Given the description of an element on the screen output the (x, y) to click on. 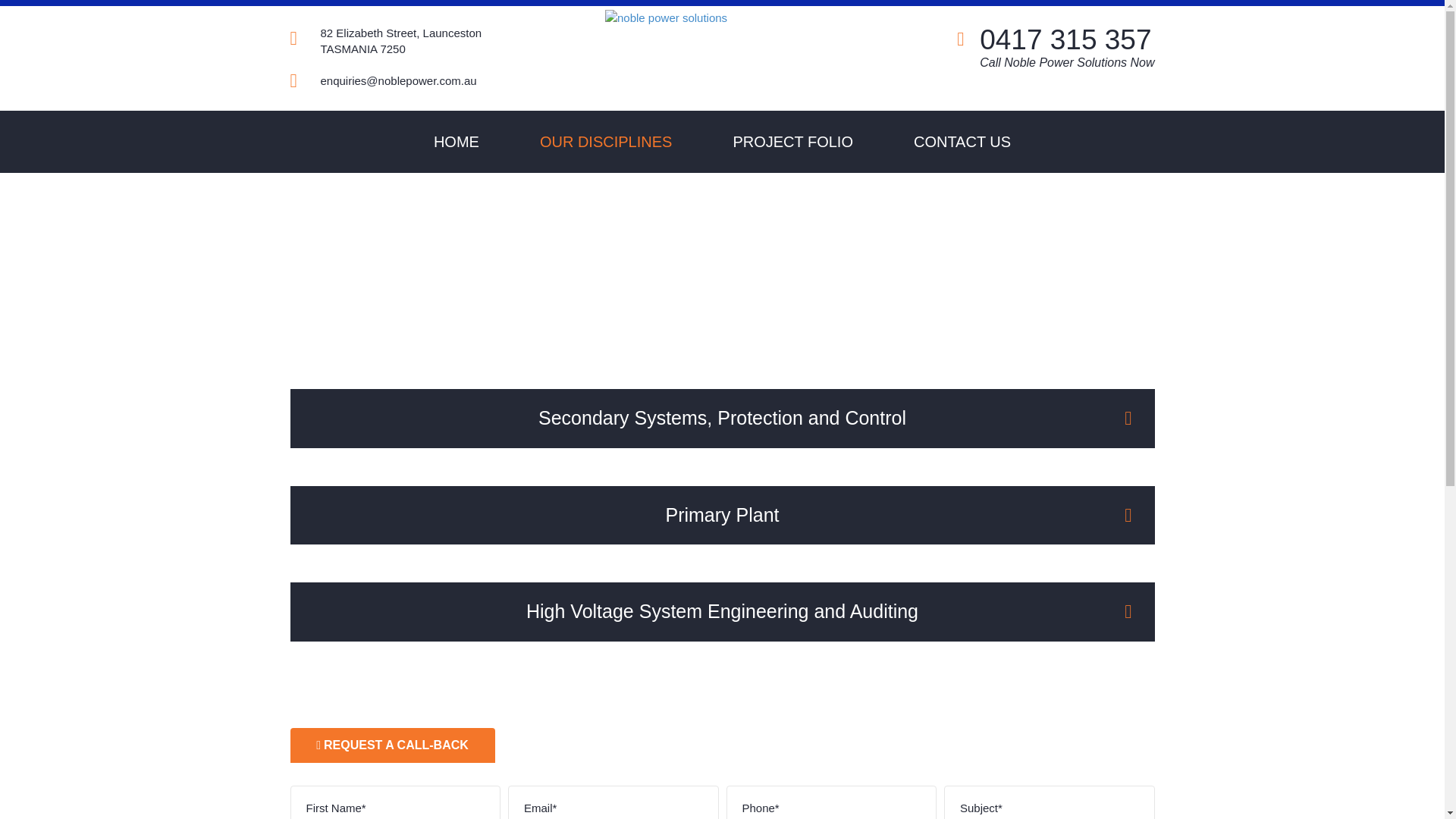
enquiries@noblepower.com.au Element type: text (382, 80)
0417 315 357
Call Noble Power Solutions Now Element type: text (1066, 47)
PROJECT FOLIO Element type: text (792, 141)
OUR DISCIPLINES Element type: text (605, 141)
82 Elizabeth Street, Launceston
TASMANIA 7250 Element type: text (385, 41)
CONTACT US Element type: text (961, 141)
HOME Element type: text (669, 263)
HOME Element type: text (456, 141)
